Given the description of an element on the screen output the (x, y) to click on. 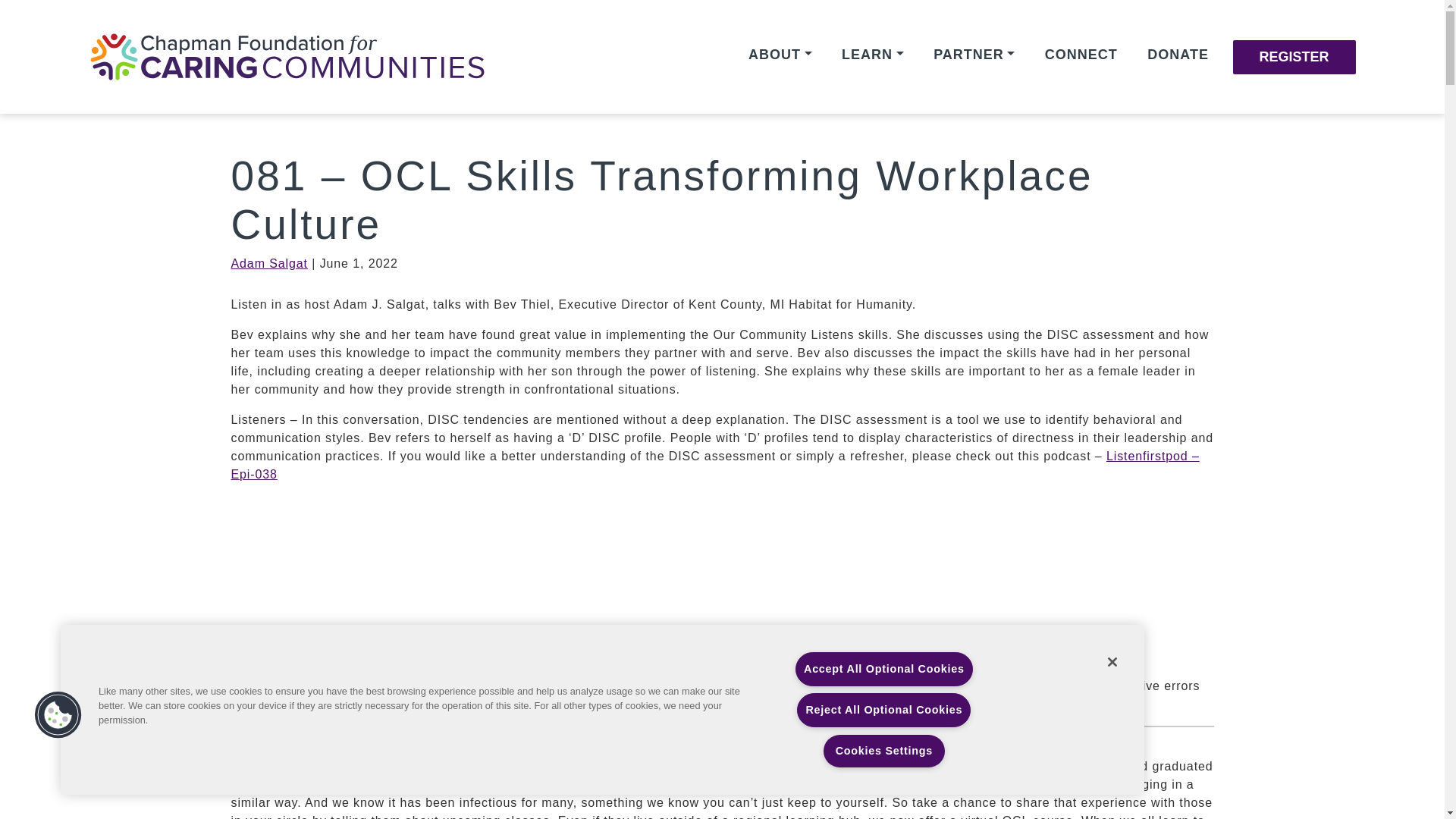
Adam Salgat (268, 263)
DONATE (1177, 54)
REGISTER (1294, 56)
Listen First Podcast (270, 635)
PARTNER (973, 54)
Listen First Podcast (270, 635)
Cookies Button (57, 715)
ABOUT (780, 54)
CONNECT (1081, 54)
LEARN (872, 54)
081 - OCL Skills Transforming Workplace Culture (418, 635)
